Given the description of an element on the screen output the (x, y) to click on. 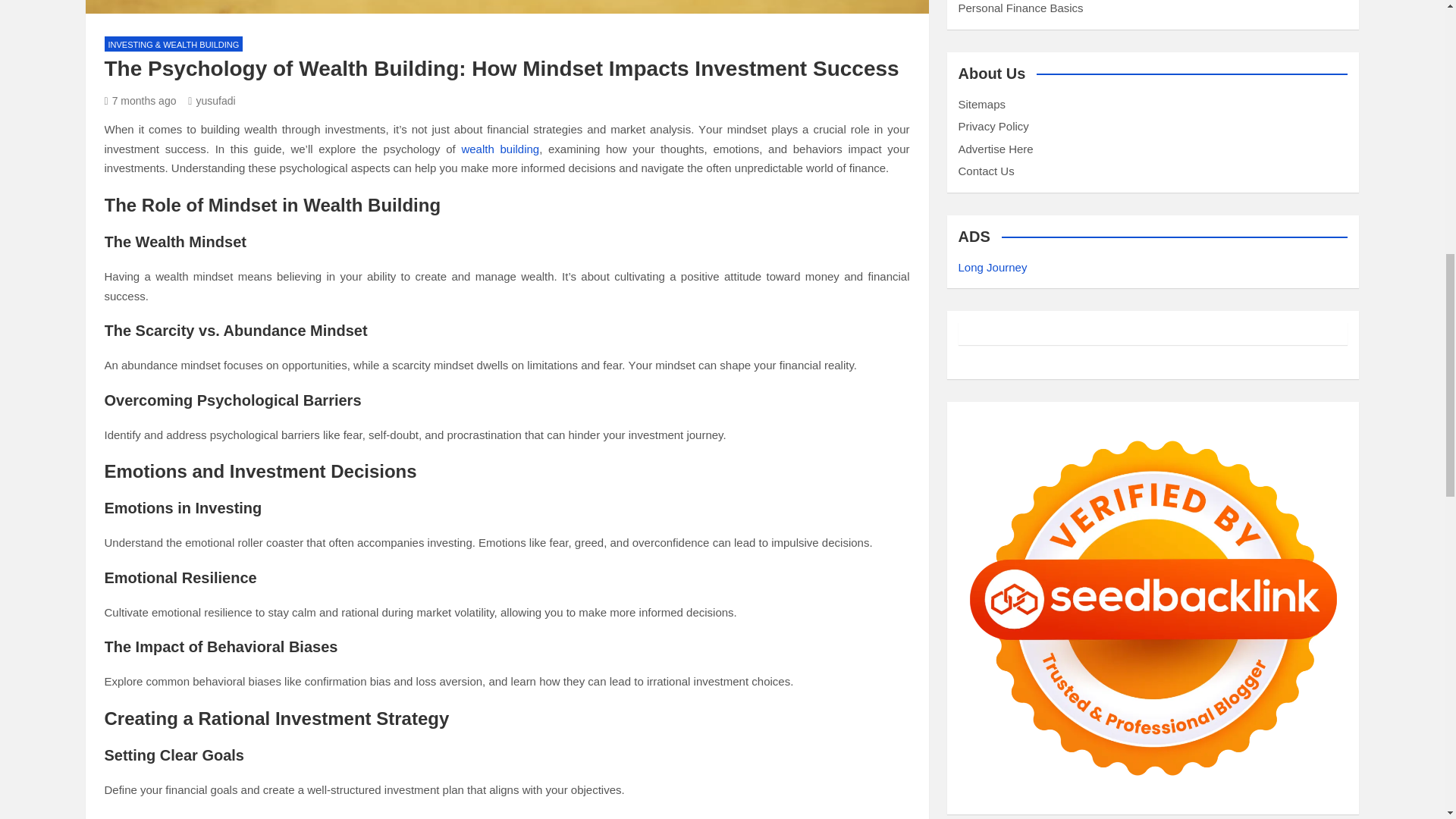
wealth building (499, 148)
Sitemaps (982, 103)
Contact Us (986, 170)
Long Journey (992, 267)
Personal Finance Basics (1020, 7)
yusufadi (210, 101)
7 months ago (140, 101)
Privacy Policy (993, 125)
Advertise Here (995, 148)
